Given the description of an element on the screen output the (x, y) to click on. 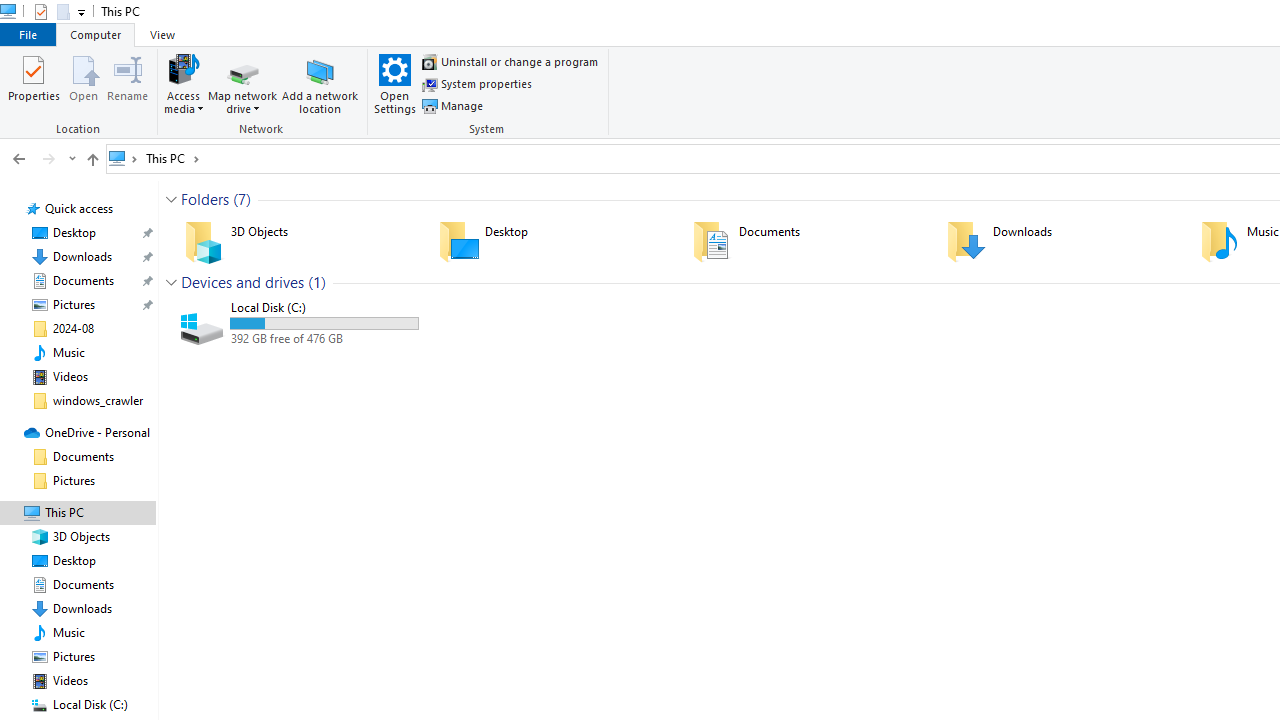
Network (264, 93)
Navigation buttons (41, 159)
Desktop (552, 241)
Available space (324, 339)
Space used (324, 323)
windows_crawler (97, 400)
Pictures (pinned) (74, 304)
Open Settings (395, 83)
Quick access (79, 209)
Quick Access Toolbar (51, 11)
Music (69, 353)
Location (80, 93)
File tab (28, 34)
Forward (Alt + Right Arrow) (49, 159)
3D Objects (298, 241)
